Given the description of an element on the screen output the (x, y) to click on. 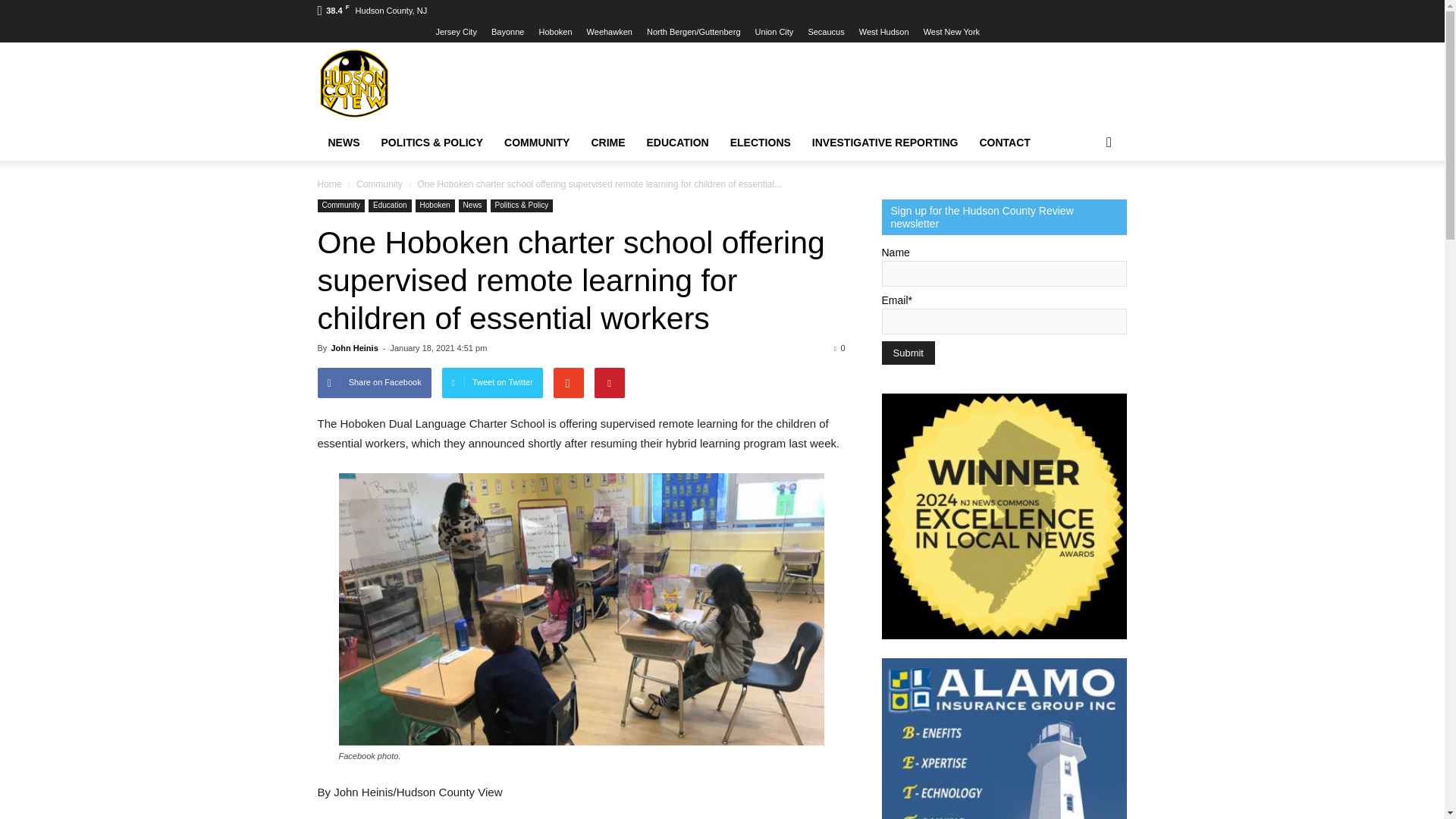
COMMUNITY (536, 142)
Jersey City (455, 31)
ELECTIONS (760, 142)
Hoboken (555, 31)
CONTACT (1005, 142)
INVESTIGATIVE REPORTING (885, 142)
West Hudson (883, 31)
West New York (951, 31)
NEWS (343, 142)
EDUCATION (677, 142)
View all posts in Community (380, 184)
Secaucus (826, 31)
Union City (774, 31)
Weehawken (608, 31)
CRIME (606, 142)
